Given the description of an element on the screen output the (x, y) to click on. 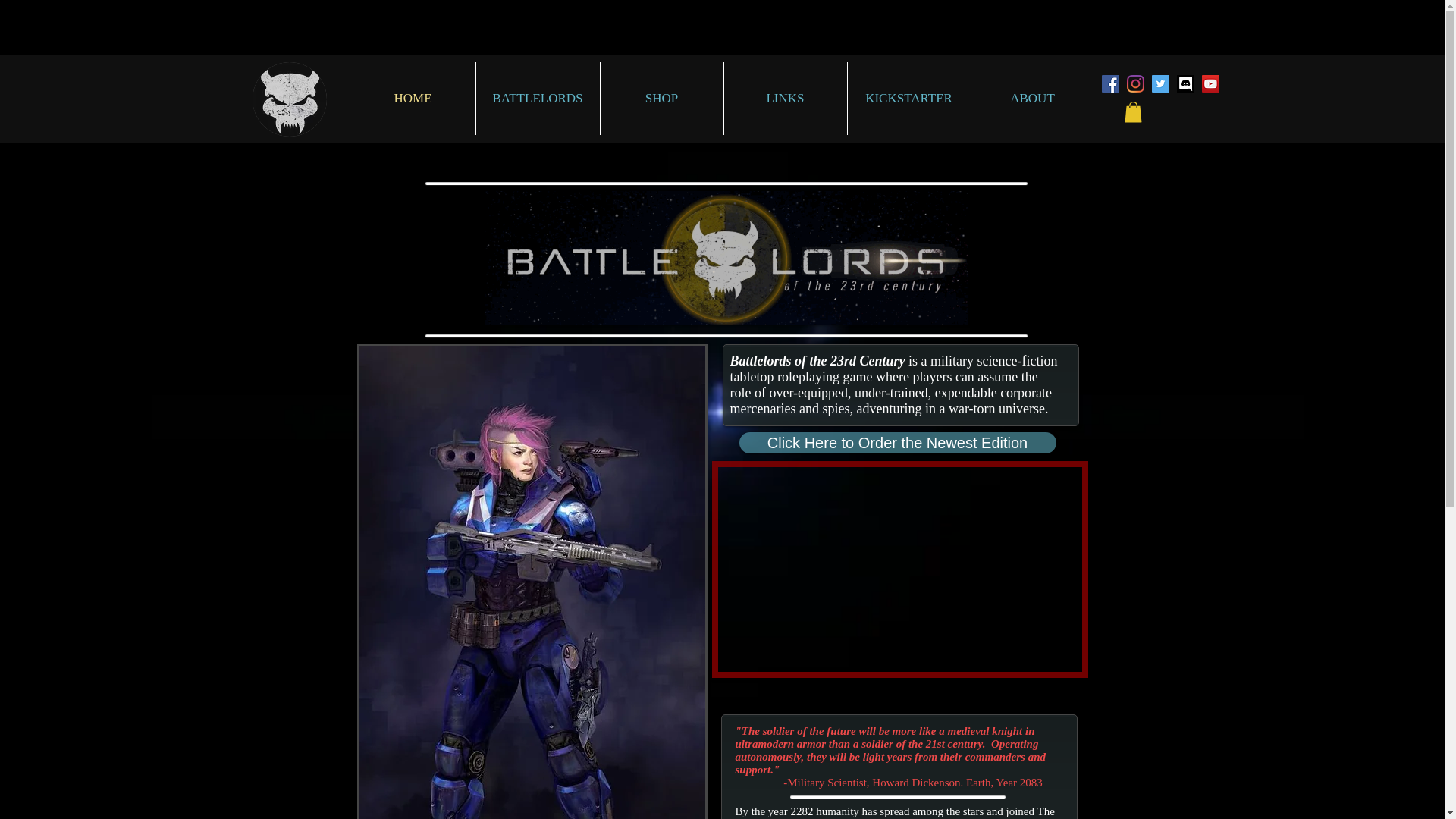
ABOUT (1032, 98)
BATTLELORDS (537, 98)
LINKS (784, 98)
KICKSTARTER (909, 98)
SHOP (661, 98)
Click Here to Order the Newest Edition (896, 442)
HOME (412, 98)
